Given the description of an element on the screen output the (x, y) to click on. 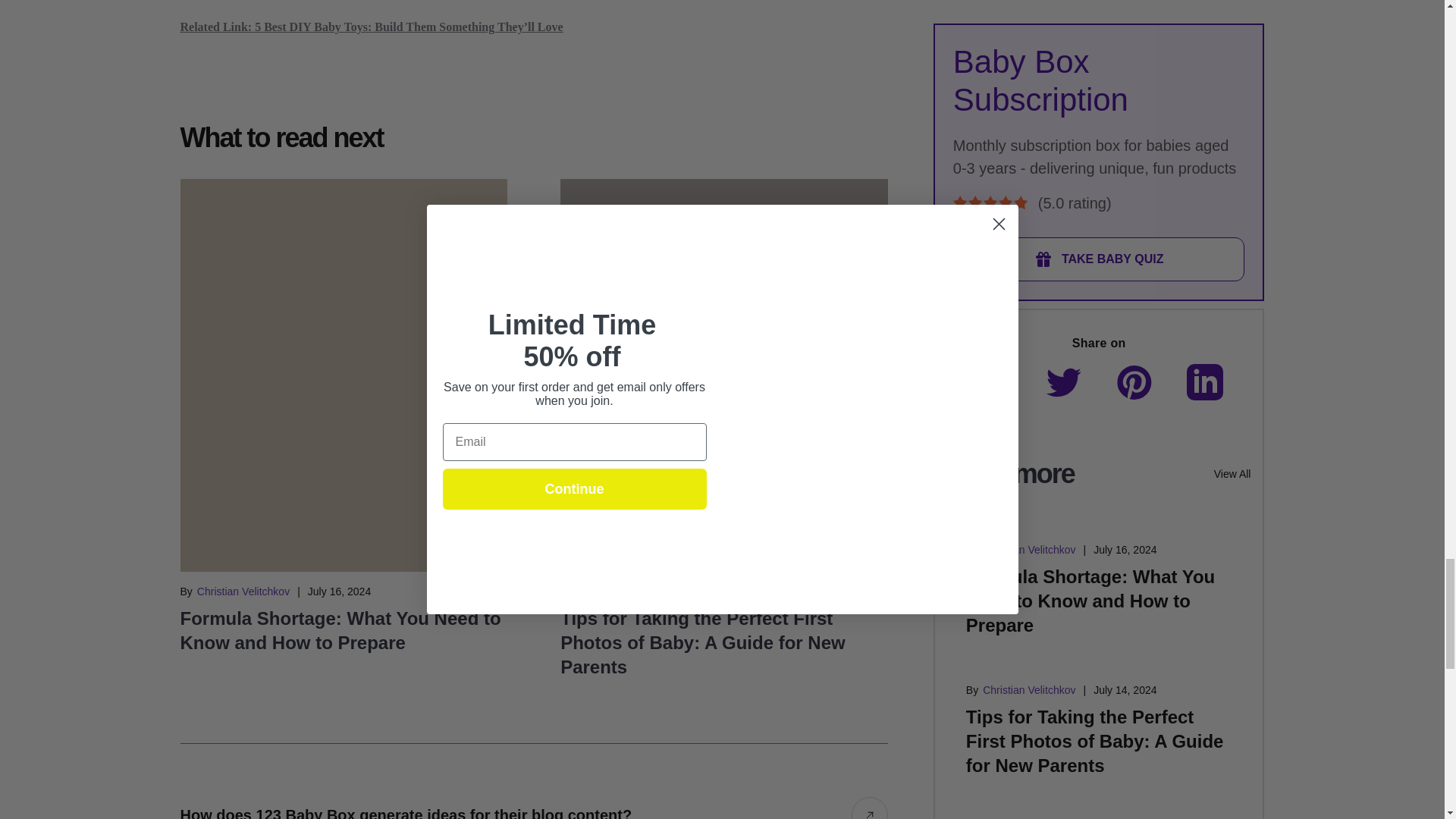
Related Link: (218, 26)
Formula Shortage: What You Need to Know and How to Prepare (340, 630)
